Given the description of an element on the screen output the (x, y) to click on. 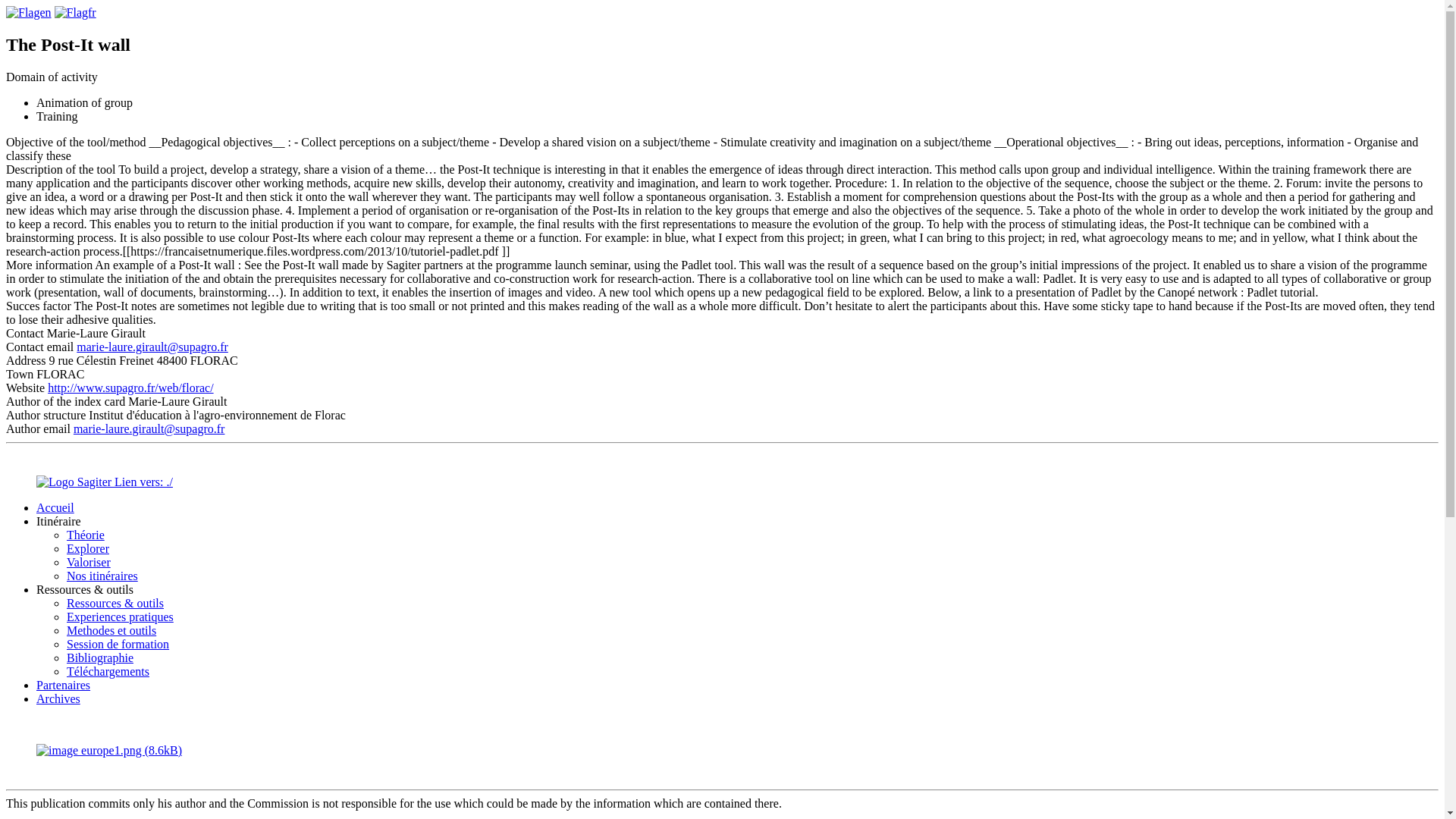
Accueil (55, 507)
Bibliographie (99, 657)
Explorer (87, 548)
fr (75, 12)
Archives (58, 698)
Session de formation (117, 644)
Valoriser (88, 562)
Experiences pratiques (119, 616)
Partenaires (63, 684)
Methodes et outils (110, 630)
